Given the description of an element on the screen output the (x, y) to click on. 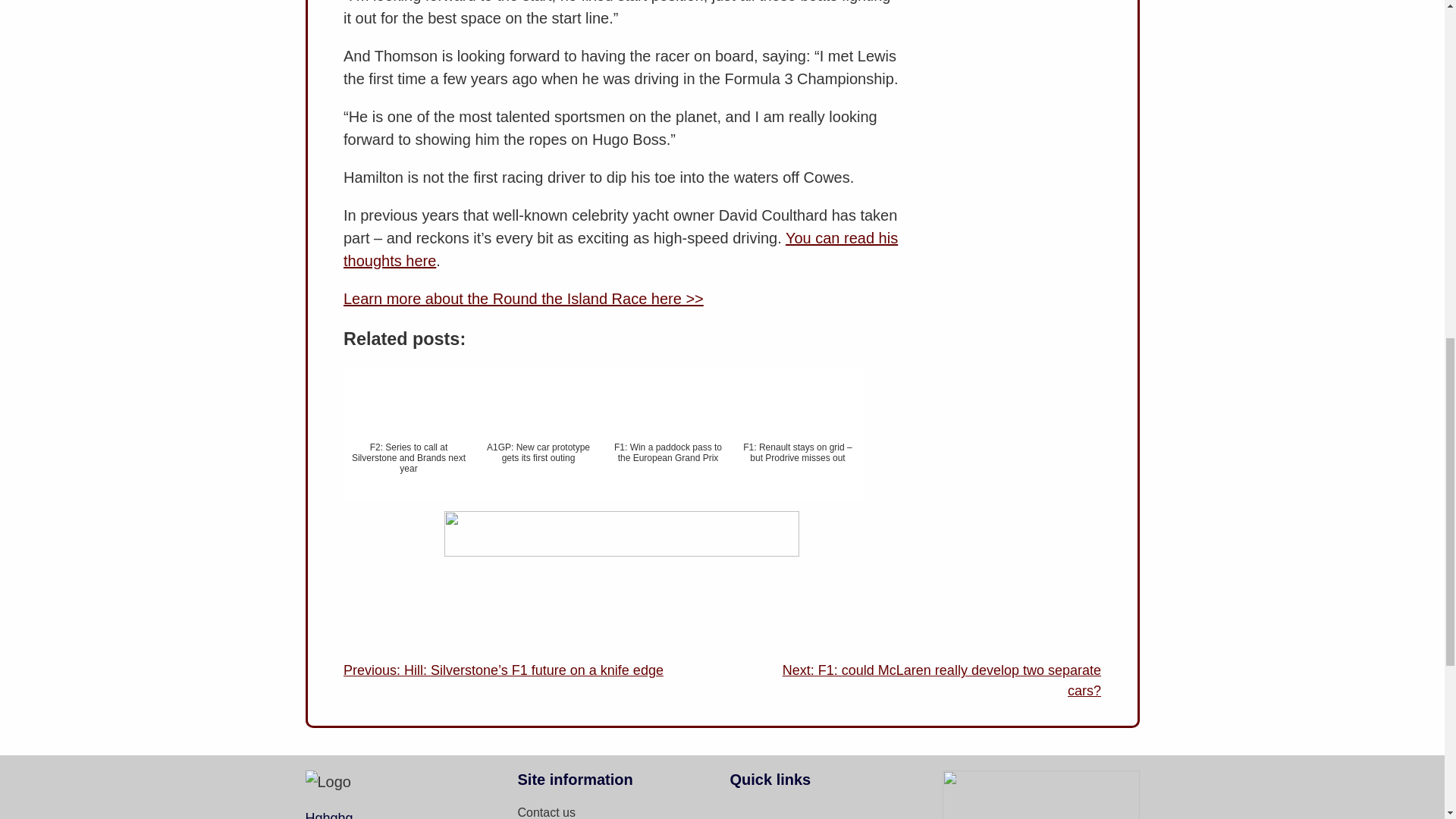
Round the Island Race website (523, 298)
